Given the description of an element on the screen output the (x, y) to click on. 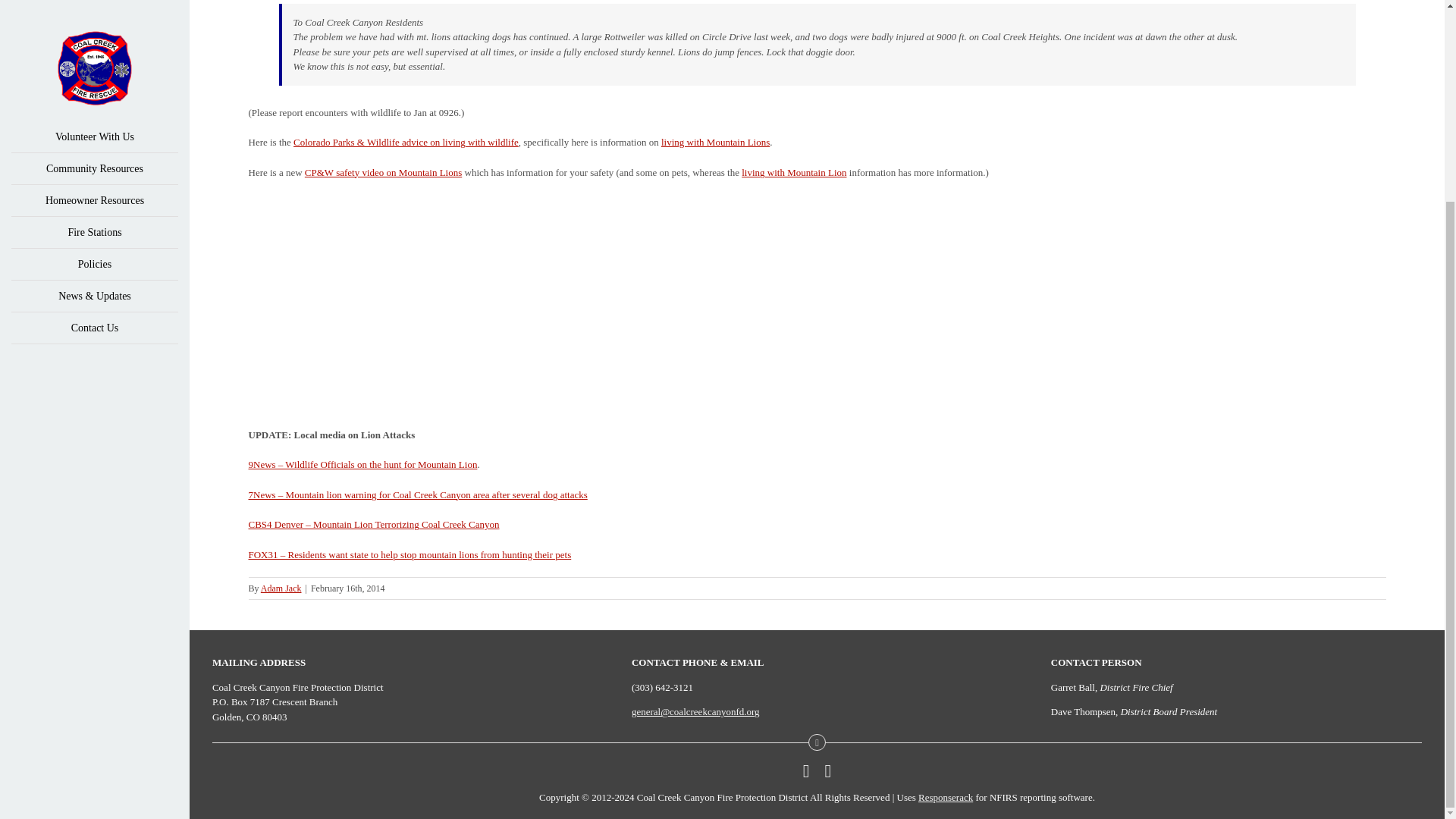
Living with Cougar in Colorado (793, 172)
Policies (94, 11)
Posts by Adam Jack (280, 588)
Living with Cougar in Colorado (715, 142)
Responserack (945, 797)
Adam Jack (280, 588)
Facebook (806, 771)
living with Mountain Lions (715, 142)
Contact Us (94, 70)
Living with wildlife in Colorado (406, 142)
living with Mountain Lion (793, 172)
X (828, 771)
